Given the description of an element on the screen output the (x, y) to click on. 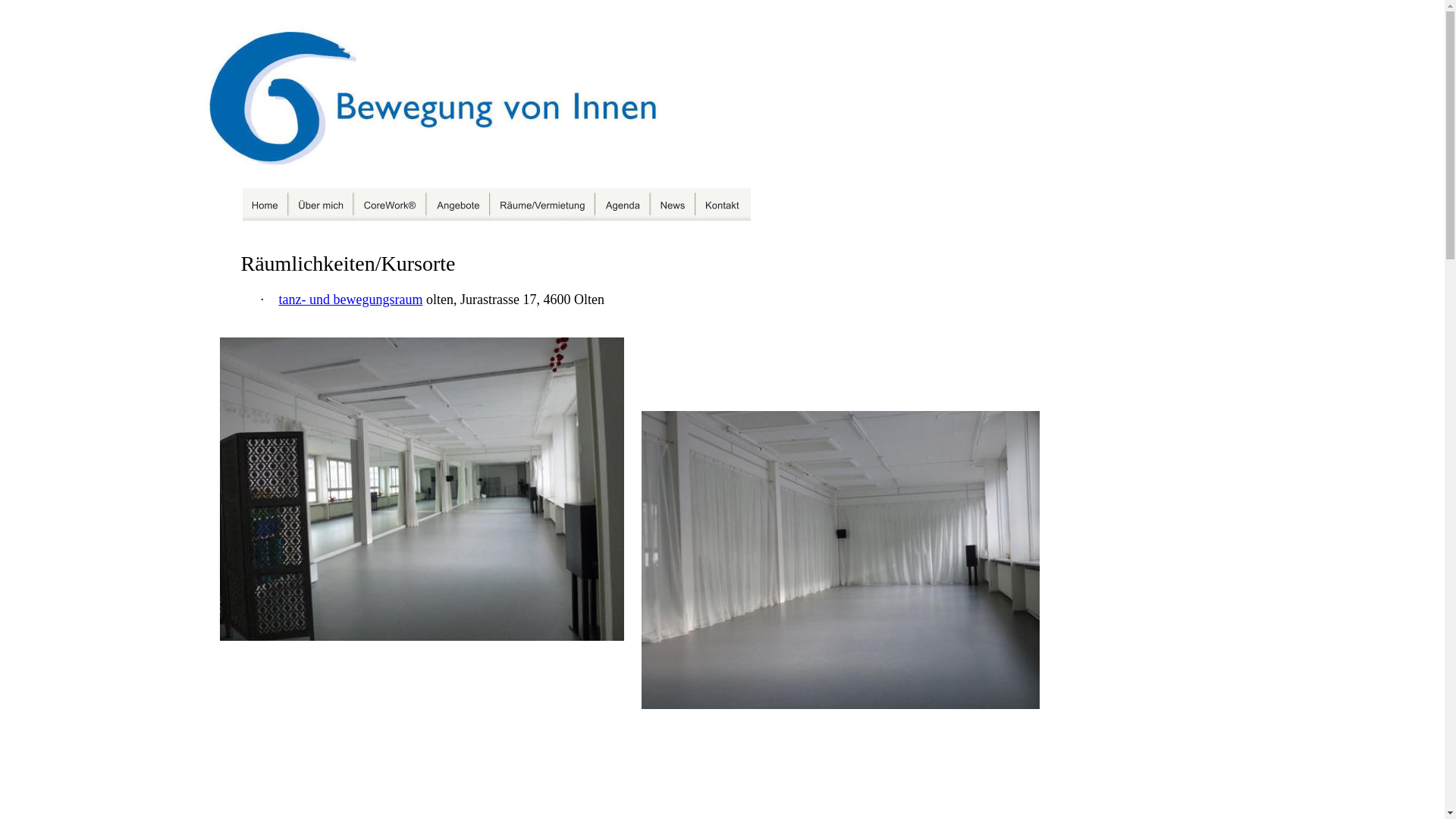
tanz- und bewegungsraum Element type: text (351, 299)
